Given the description of an element on the screen output the (x, y) to click on. 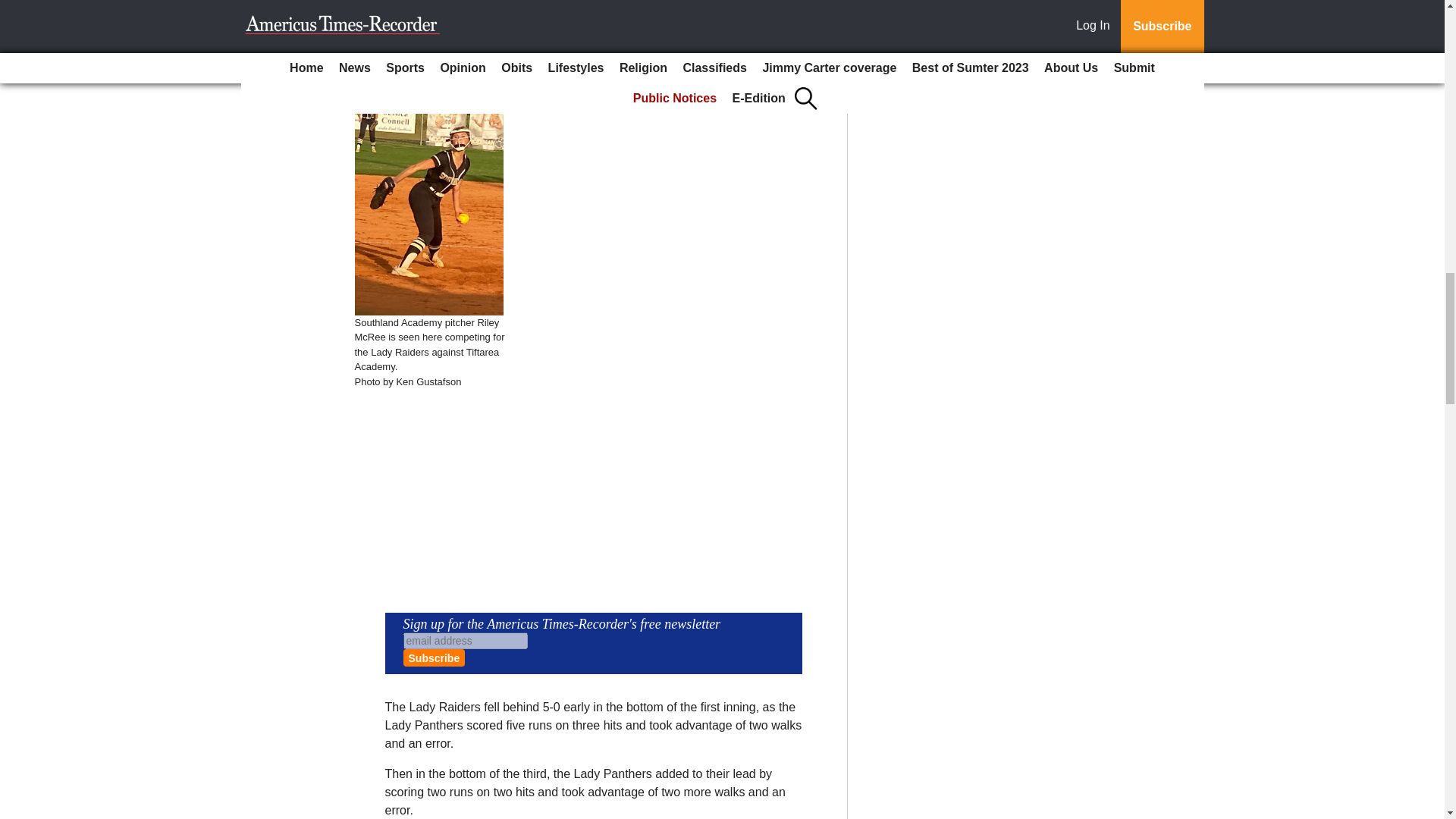
Subscribe (434, 657)
Subscribe (434, 657)
